Given the description of an element on the screen output the (x, y) to click on. 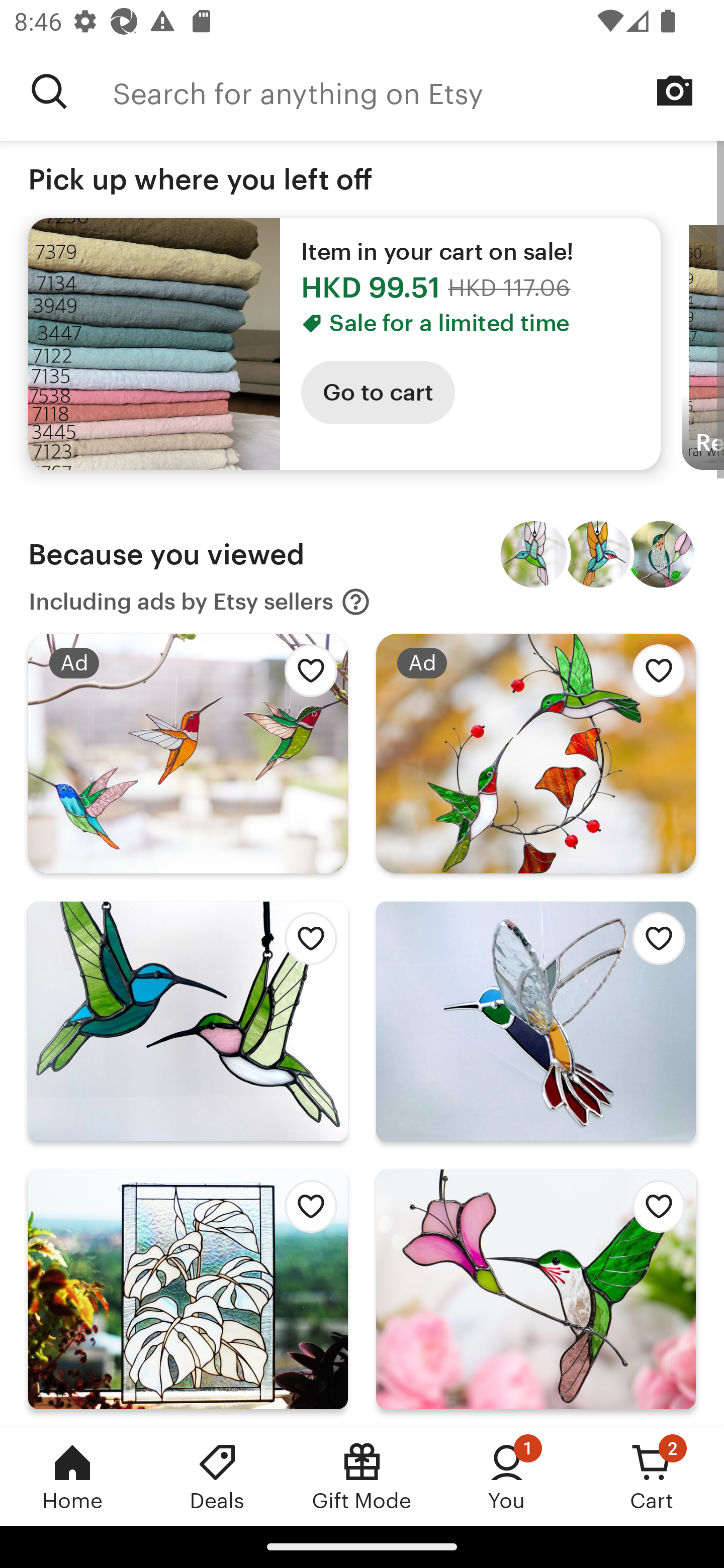
Search for anything on Etsy (49, 91)
Search by image (674, 90)
Search for anything on Etsy (418, 91)
Including ads by Etsy sellers (199, 601)
Deals (216, 1475)
Gift Mode (361, 1475)
You, 1 new notification You (506, 1475)
Cart, 2 new notifications Cart (651, 1475)
